Given the description of an element on the screen output the (x, y) to click on. 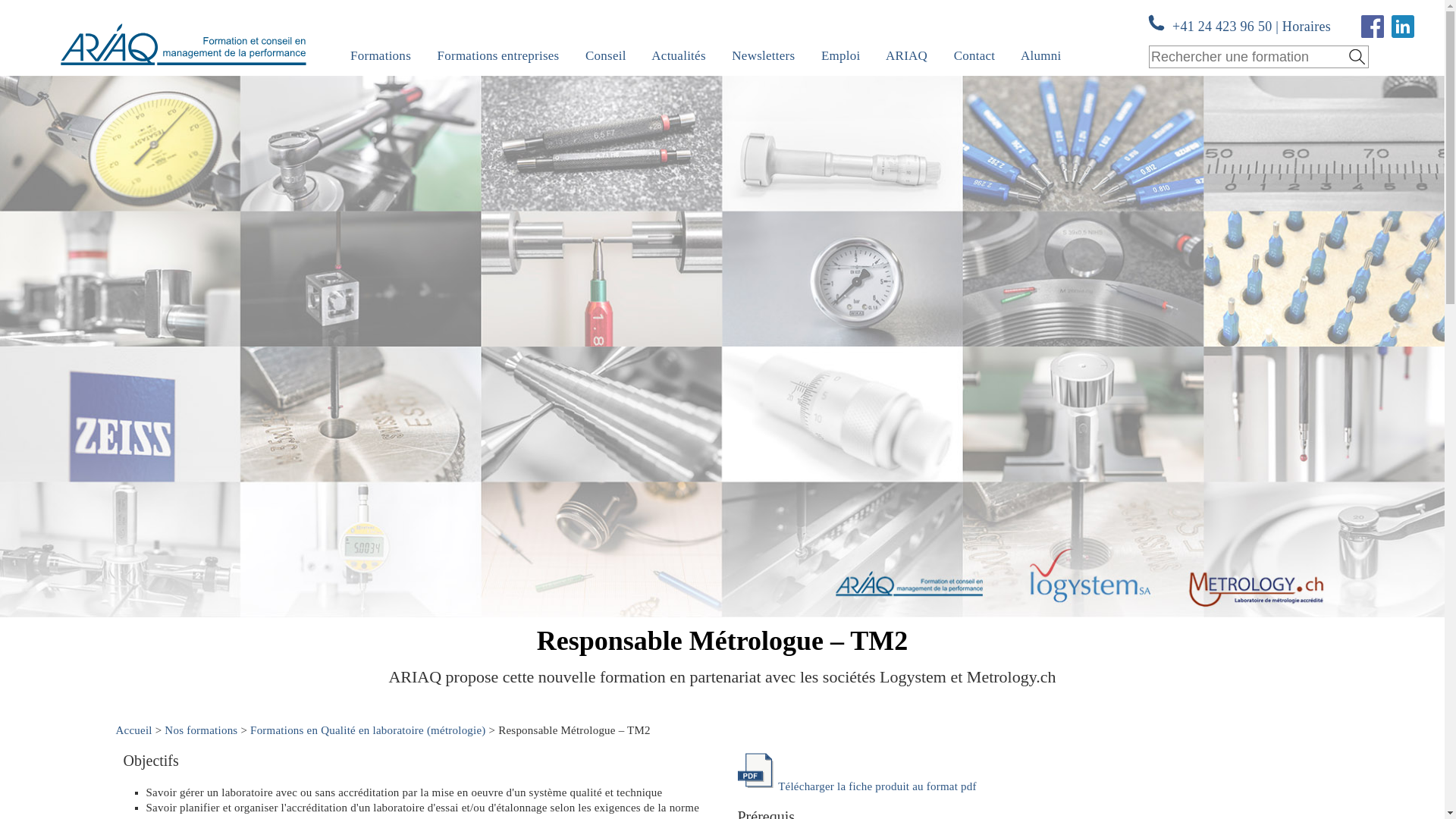
Accueil Element type: text (133, 730)
Conseil Element type: text (605, 55)
Formations Element type: text (380, 55)
Emploi Element type: text (840, 55)
Nos formations Element type: text (200, 730)
Horaires Element type: text (1306, 26)
Alumni Element type: text (1040, 55)
Formations entreprises Element type: text (498, 55)
ARIAQ Element type: text (906, 55)
Contact Element type: text (974, 55)
Newsletters Element type: text (762, 55)
